Given the description of an element on the screen output the (x, y) to click on. 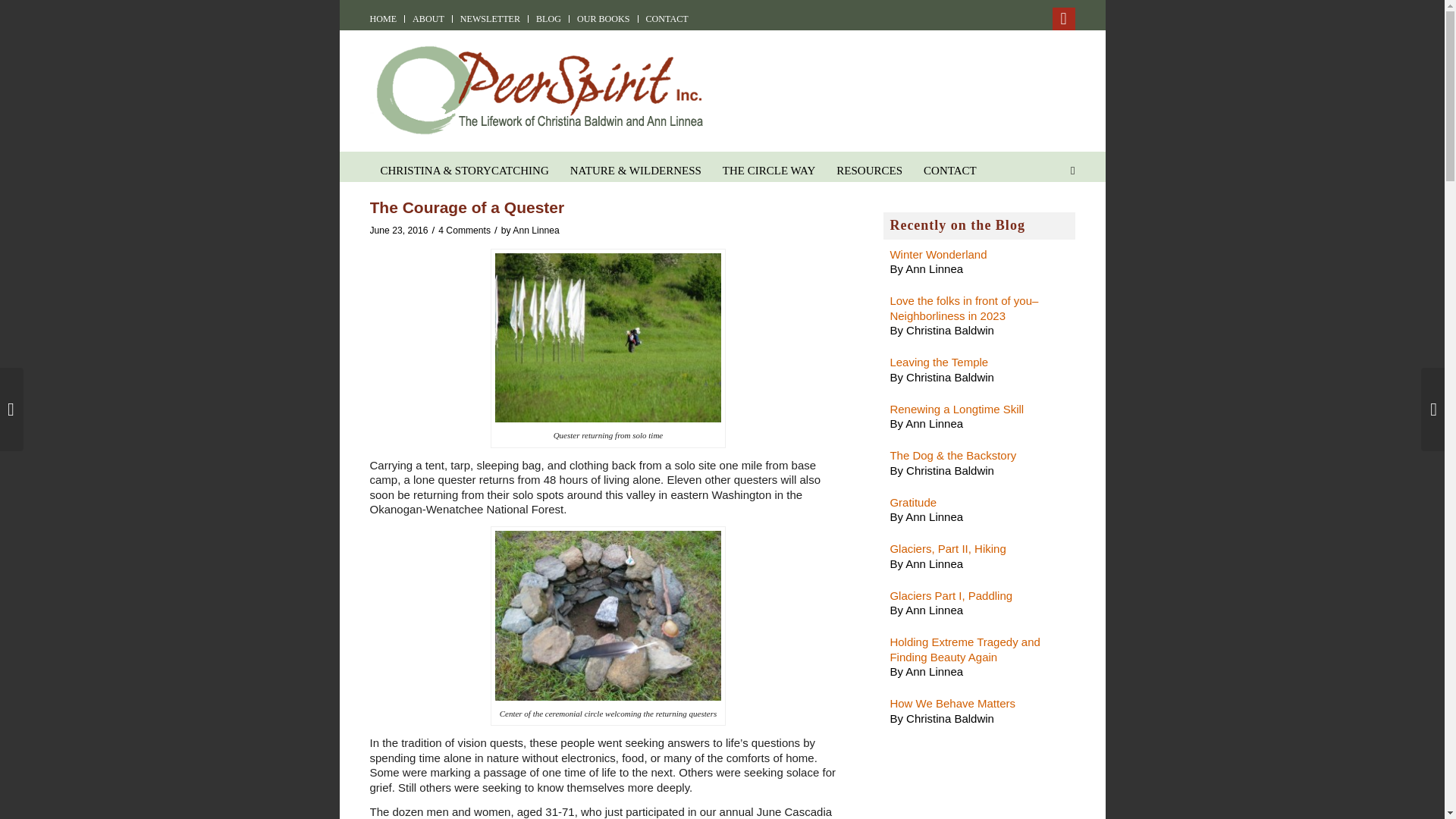
HOME (383, 18)
CONTACT (667, 18)
Posts by Ann Linnea (535, 230)
OUR BOOKS (603, 18)
4 Comments (464, 230)
Ann Linnea (535, 230)
NEWSLETTER (489, 18)
BLOG (547, 18)
logo-new (538, 84)
ABOUT (428, 18)
logo-new (538, 90)
